Given the description of an element on the screen output the (x, y) to click on. 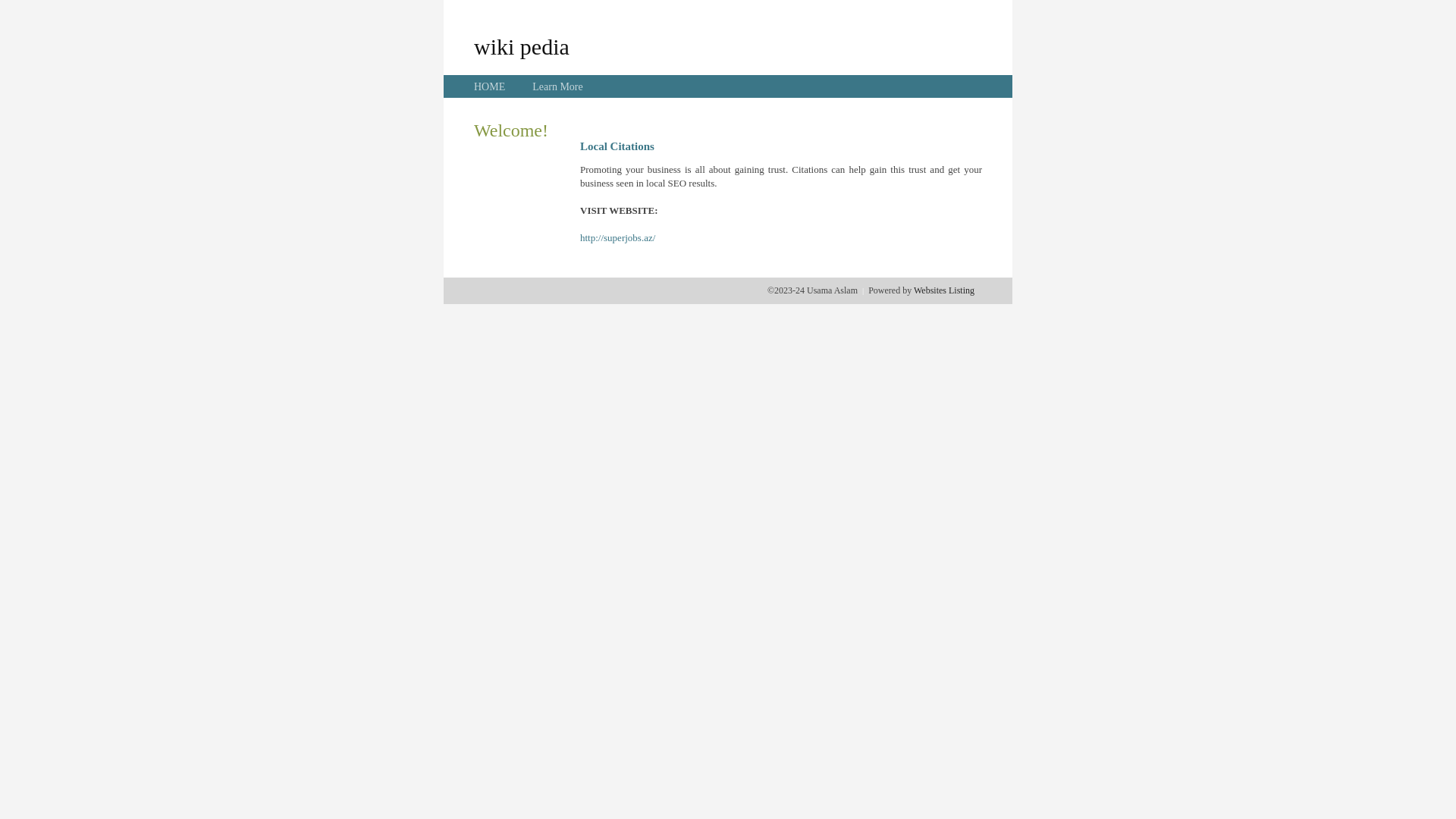
Websites Listing Element type: text (943, 290)
http://superjobs.az/ Element type: text (617, 237)
wiki pedia Element type: text (521, 46)
Learn More Element type: text (557, 86)
HOME Element type: text (489, 86)
